Given the description of an element on the screen output the (x, y) to click on. 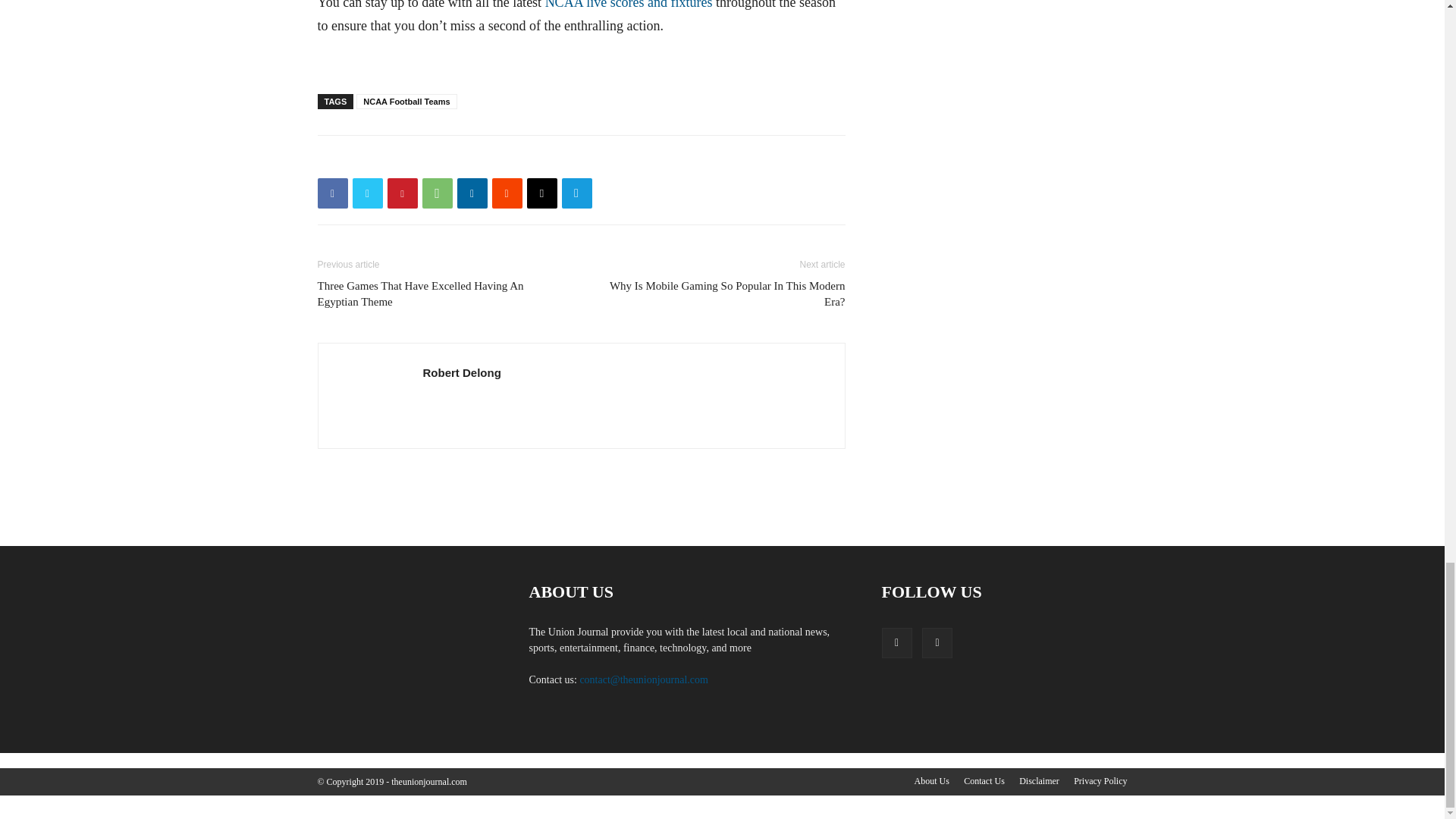
WhatsApp (436, 193)
NCAA Football Teams (406, 101)
Pinterest (401, 193)
Facebook (332, 193)
Twitter (366, 193)
NCAA live scores and fixtures (628, 4)
Linkedin (471, 193)
